Given the description of an element on the screen output the (x, y) to click on. 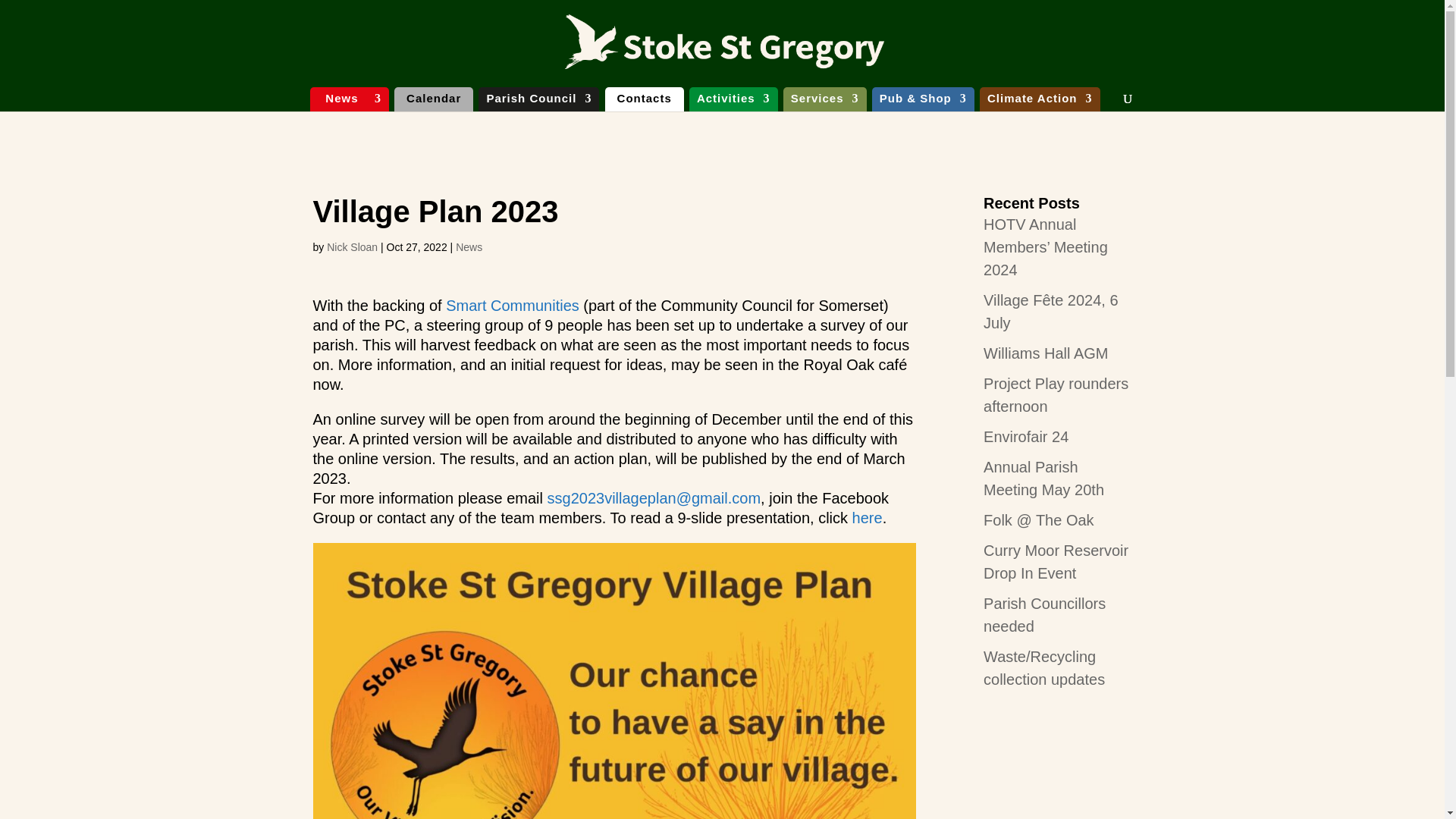
Posts by Nick Sloan (351, 246)
Parish Council (538, 100)
Services (824, 100)
Calendar (433, 100)
Contacts (644, 100)
News (349, 100)
Activities (733, 100)
